Given the description of an element on the screen output the (x, y) to click on. 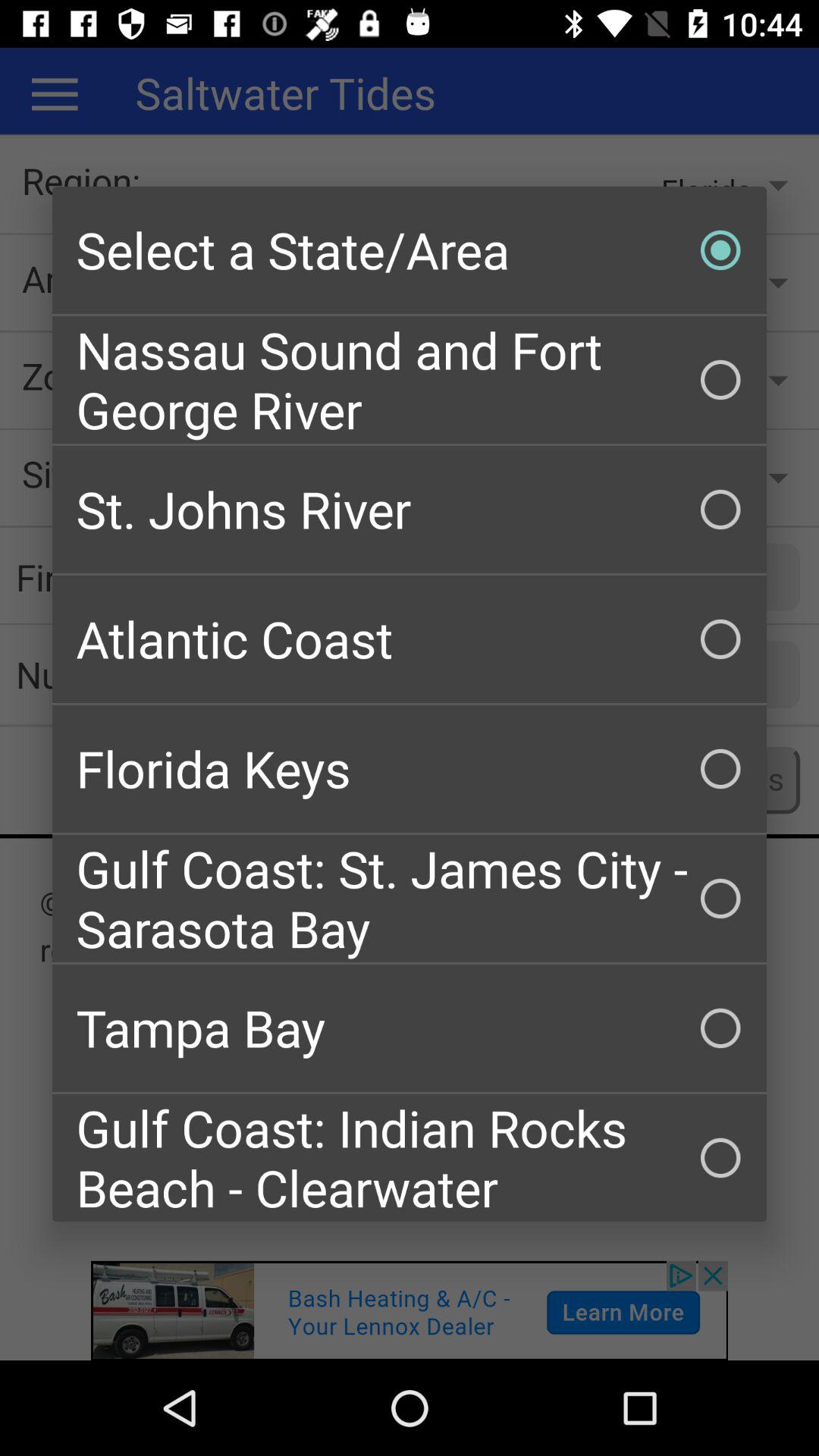
launch item above gulf coast st (409, 768)
